Given the description of an element on the screen output the (x, y) to click on. 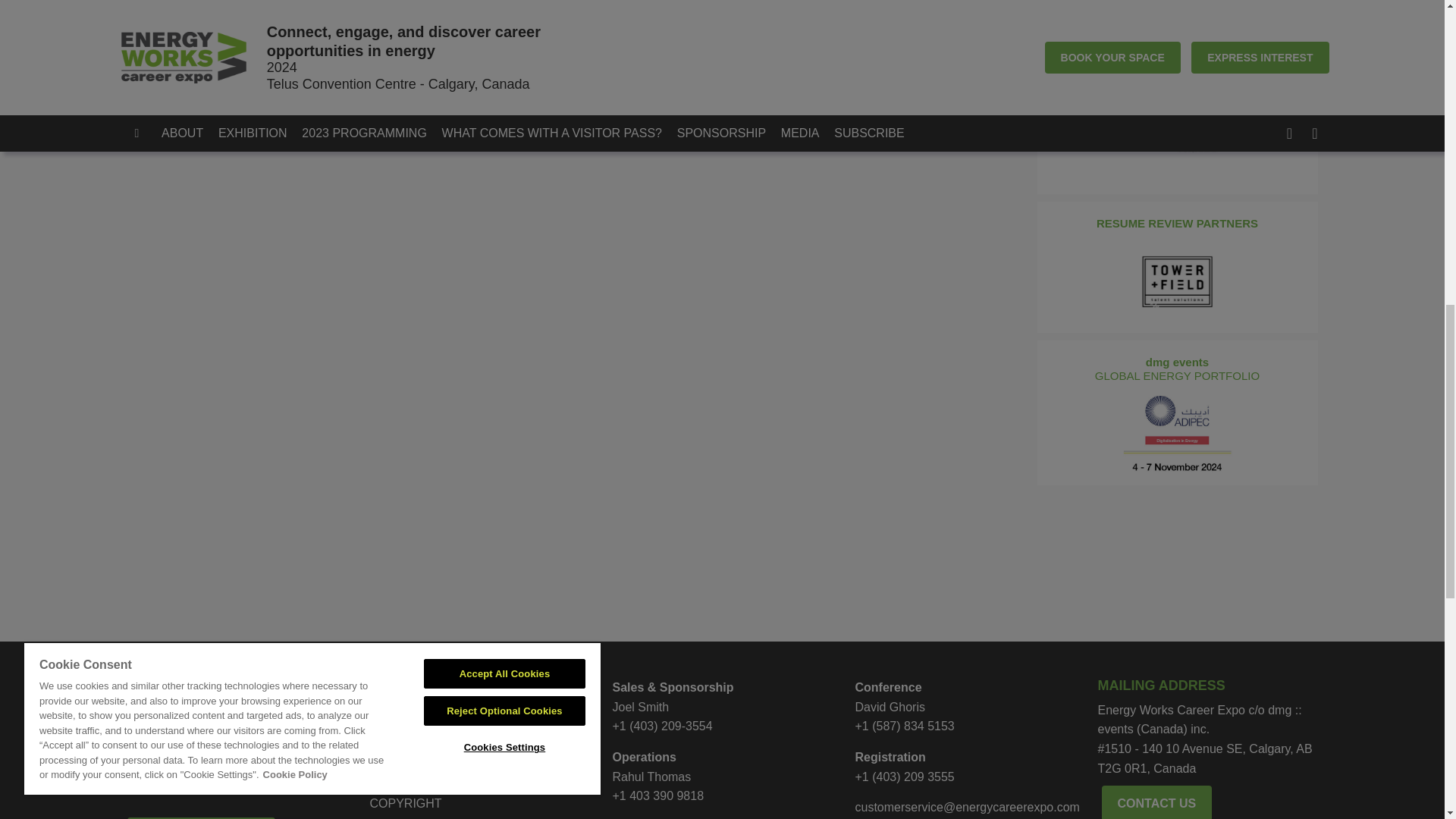
Admission Policy (479, 781)
Contact Us (1157, 803)
About dmg events (479, 733)
Contact Us (479, 711)
Copyright (479, 803)
